Given the description of an element on the screen output the (x, y) to click on. 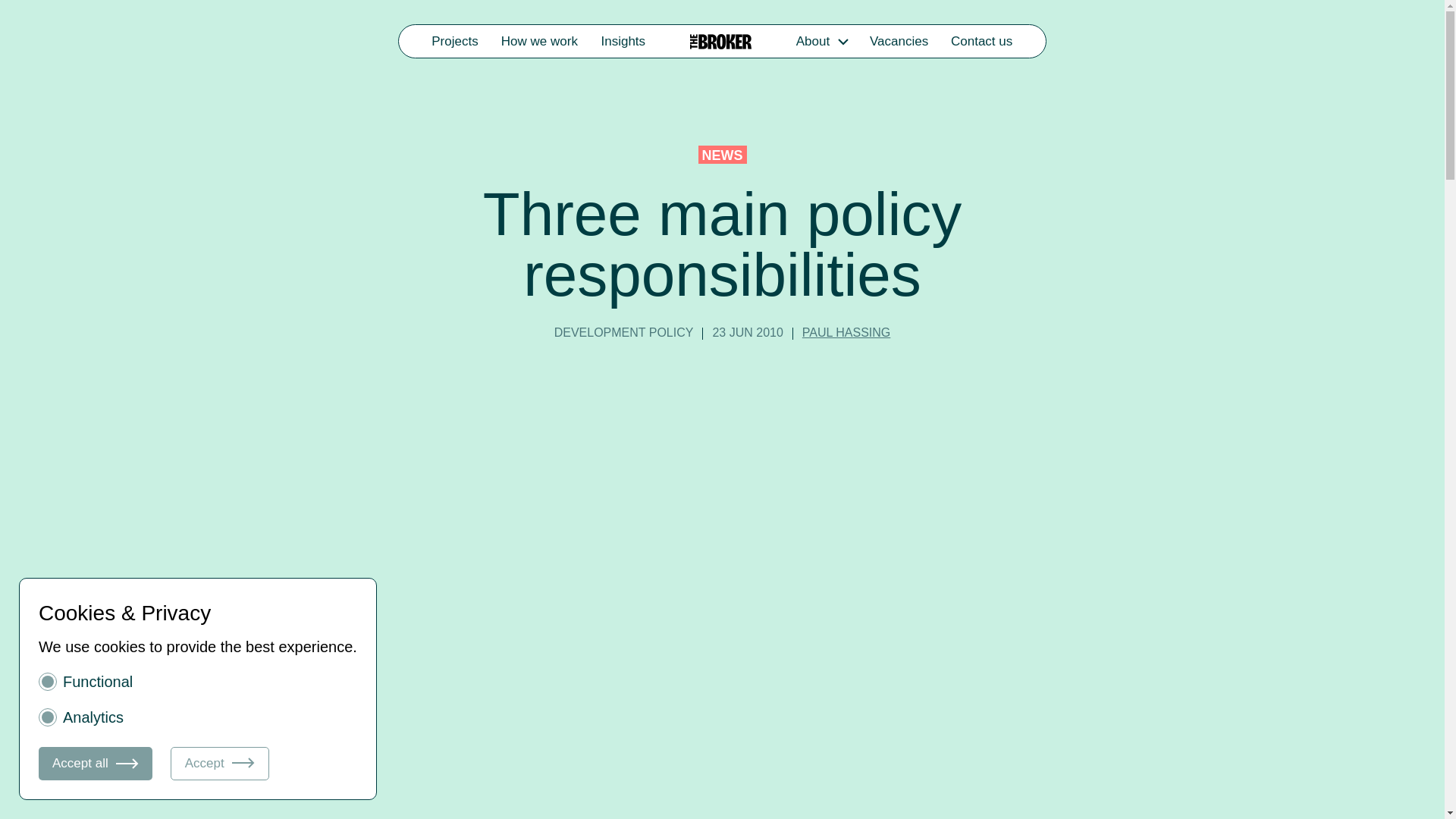
About (812, 41)
Contact us (981, 41)
How we work (539, 41)
Accept all (95, 763)
Insights (622, 41)
Accept (219, 763)
Vacancies (898, 41)
Projects (454, 41)
